Given the description of an element on the screen output the (x, y) to click on. 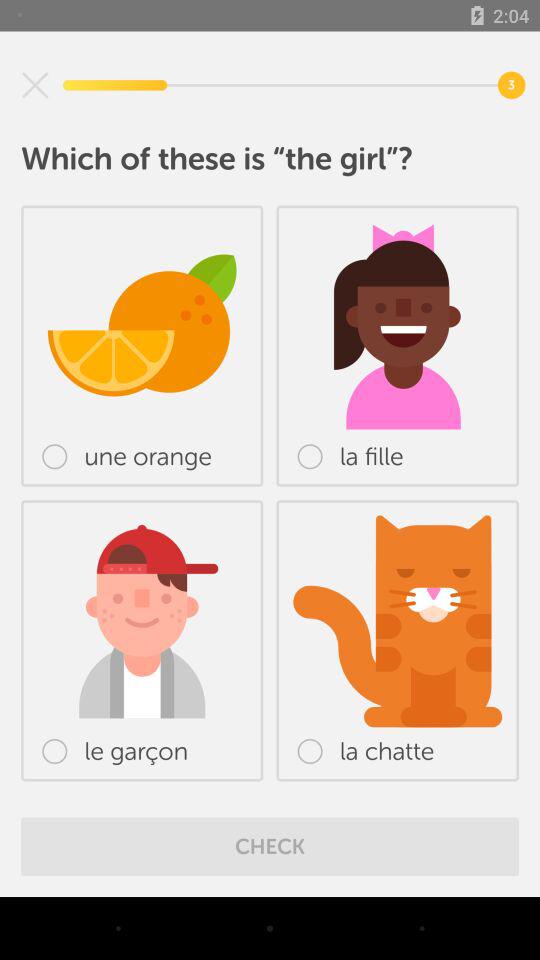
close the application (35, 85)
